Given the description of an element on the screen output the (x, y) to click on. 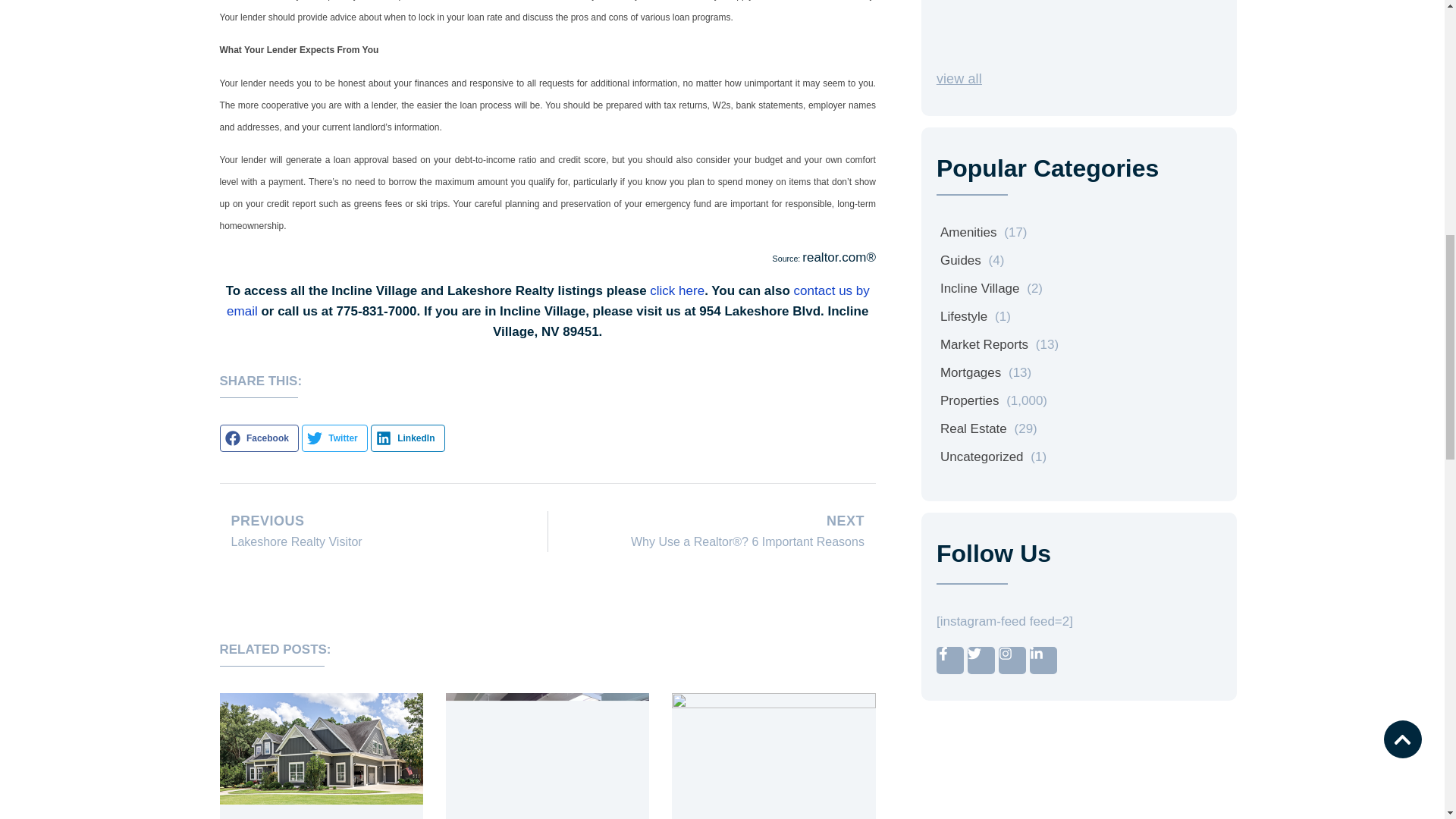
contact us by email (548, 300)
click here (676, 290)
